Given the description of an element on the screen output the (x, y) to click on. 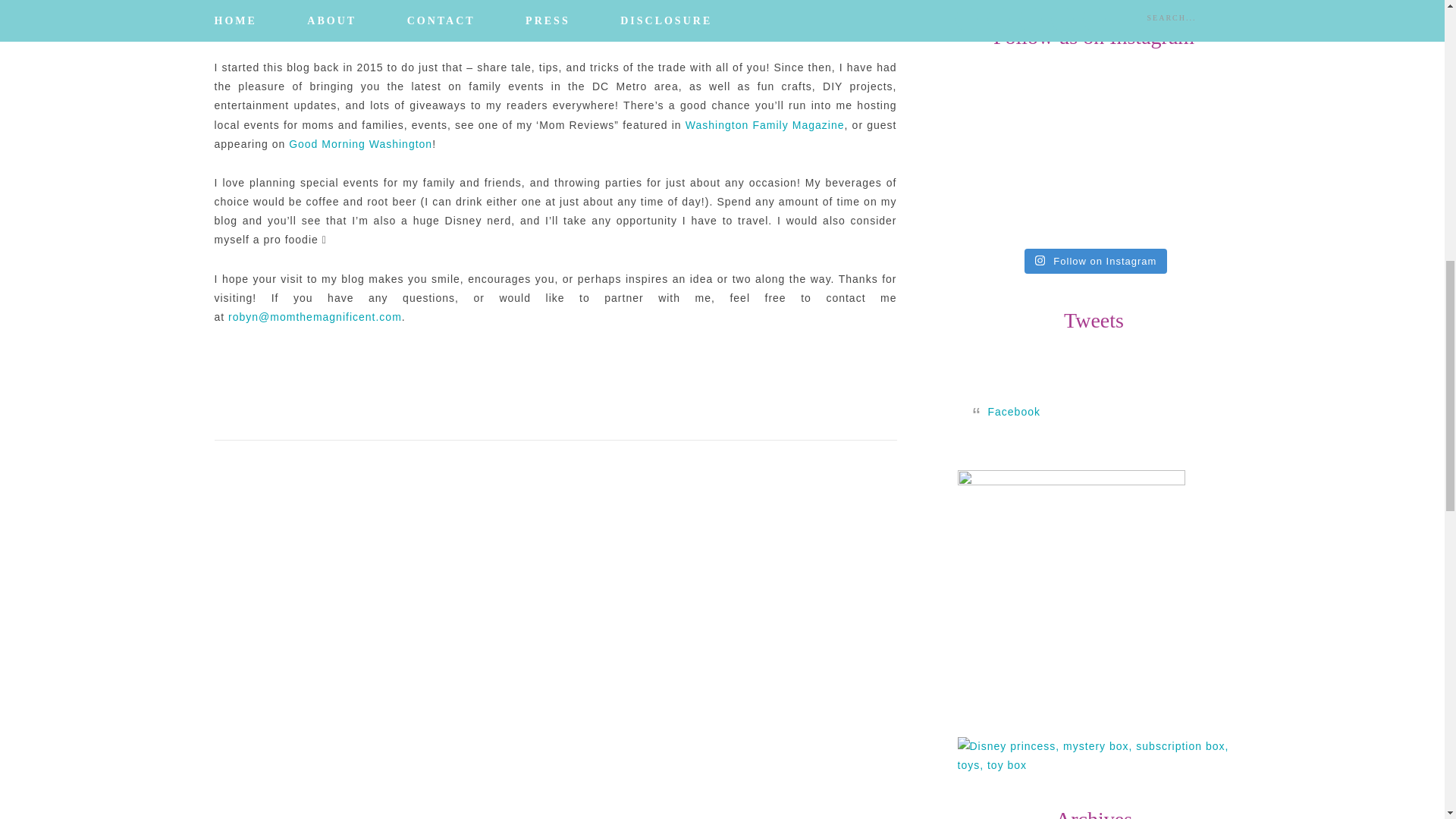
Good Morning Washington (360, 143)
Washington Family Magazine (764, 124)
